Given the description of an element on the screen output the (x, y) to click on. 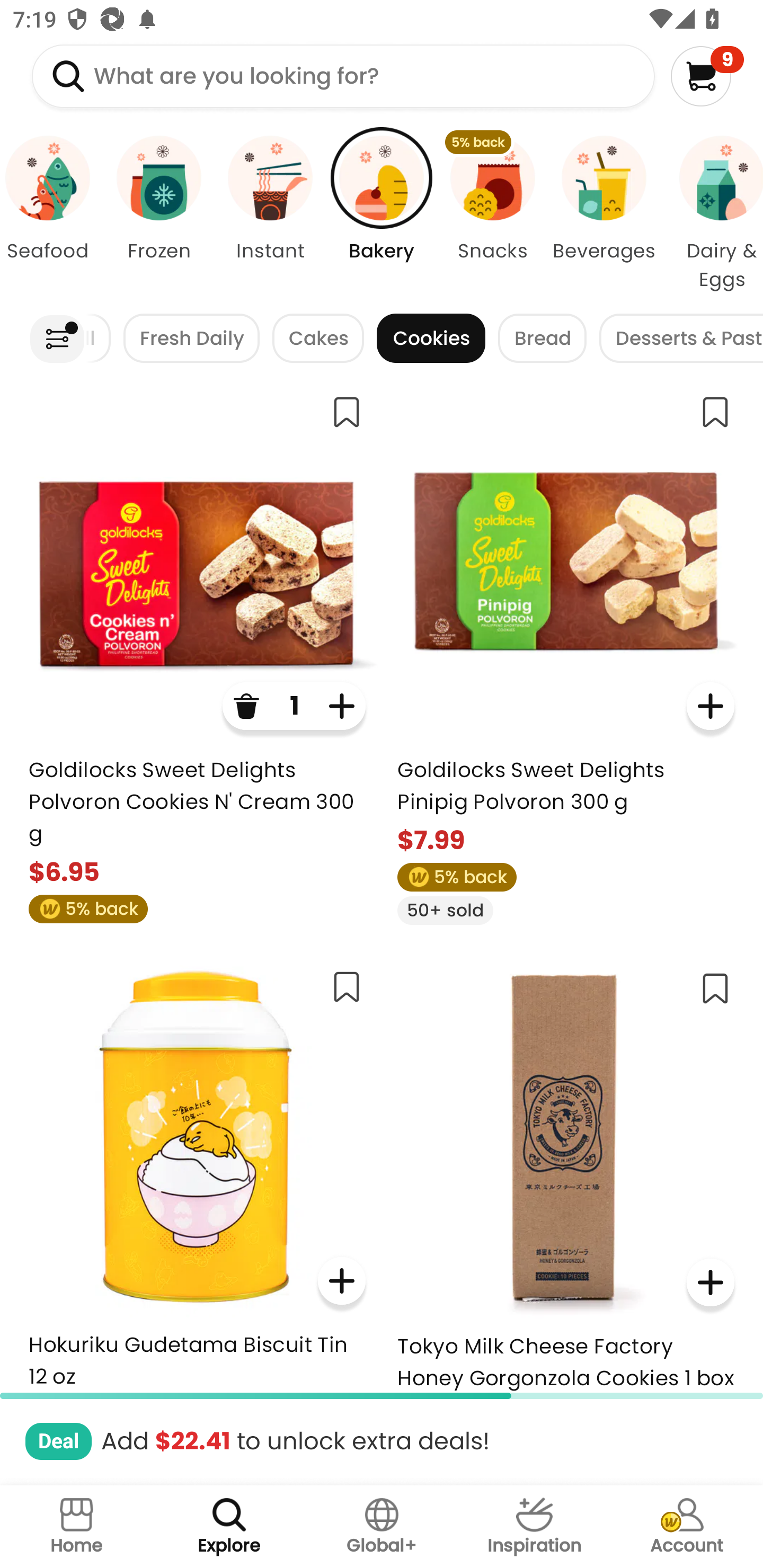
What are you looking for? (343, 75)
9 (706, 75)
Seafood (51, 214)
Frozen (158, 214)
Instant (269, 214)
Bakery (381, 214)
5% back Snacks (492, 214)
Beverages (603, 214)
Dairy & Eggs (711, 214)
Fresh Daily (191, 337)
Cakes (317, 337)
Cookies (430, 337)
Bread (542, 337)
Desserts & Pastries (680, 337)
